Given the description of an element on the screen output the (x, y) to click on. 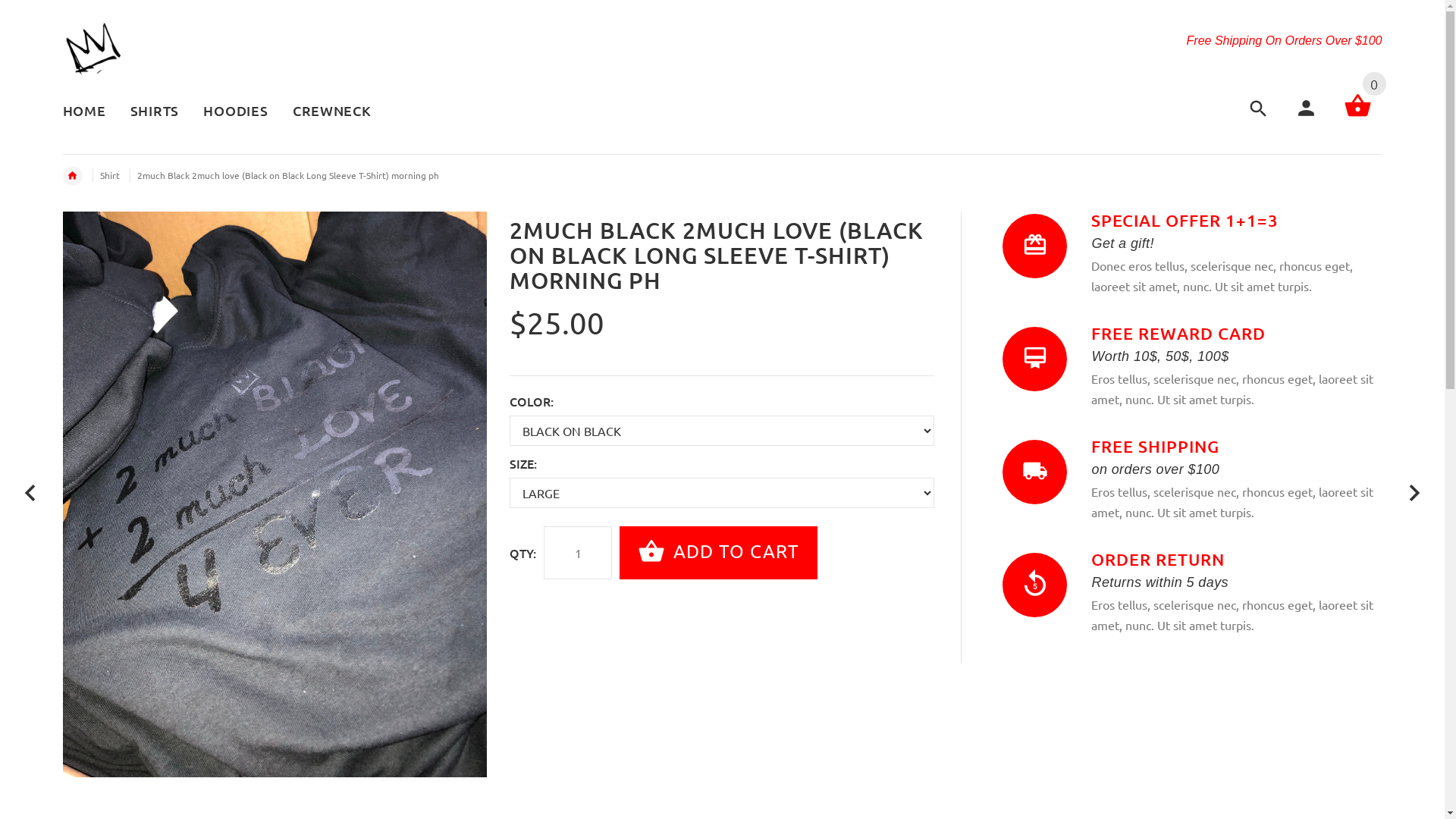
0 Element type: text (1357, 114)
HOODIES Element type: text (235, 111)
SHIRTS Element type: text (154, 111)
Shirt Element type: text (109, 175)
CREWNECK Element type: text (325, 111)
HOME Element type: text (89, 111)
ADD TO CART Element type: text (718, 552)
